Given the description of an element on the screen output the (x, y) to click on. 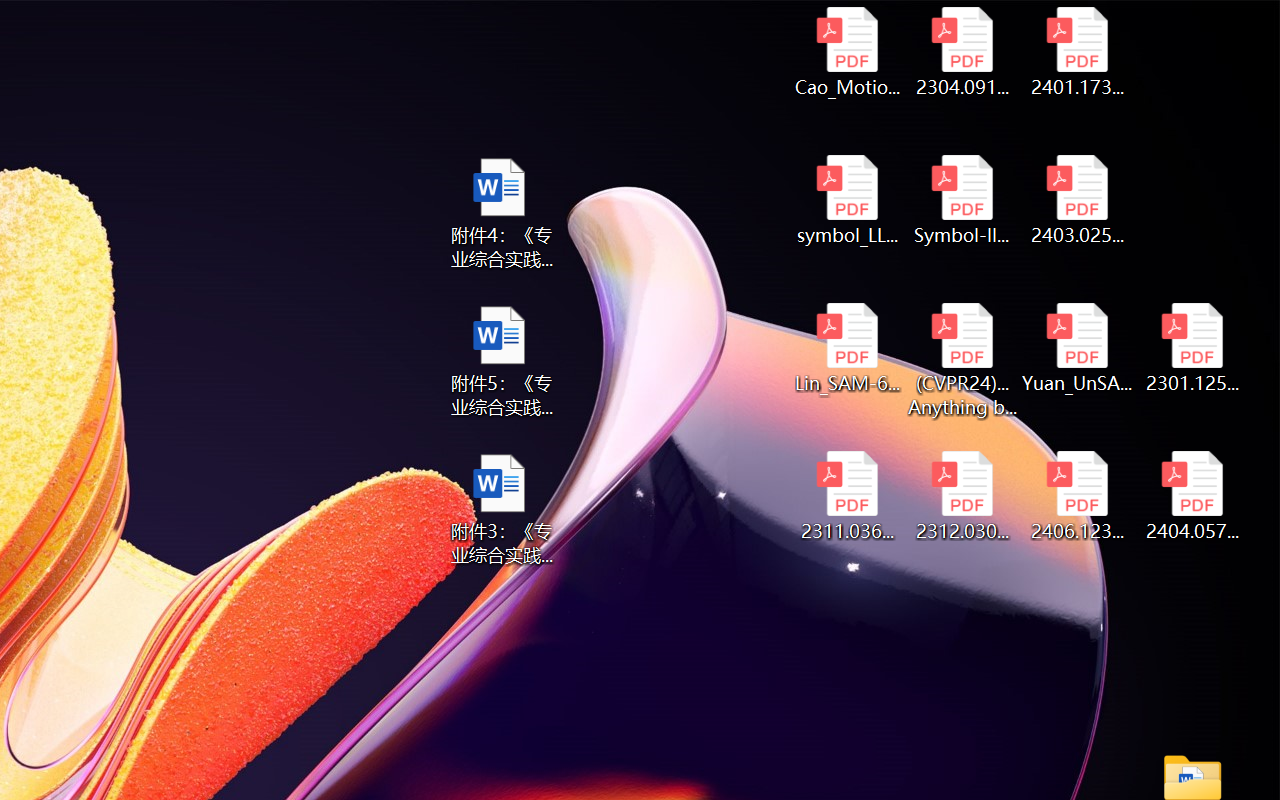
2406.12373v2.pdf (1077, 496)
2403.02502v1.pdf (1077, 200)
2301.12597v3.pdf (1192, 348)
2304.09121v3.pdf (962, 52)
2311.03658v2.pdf (846, 496)
2401.17399v1.pdf (1077, 52)
(CVPR24)Matching Anything by Segmenting Anything.pdf (962, 360)
2312.03032v2.pdf (962, 496)
symbol_LLM.pdf (846, 200)
